Given the description of an element on the screen output the (x, y) to click on. 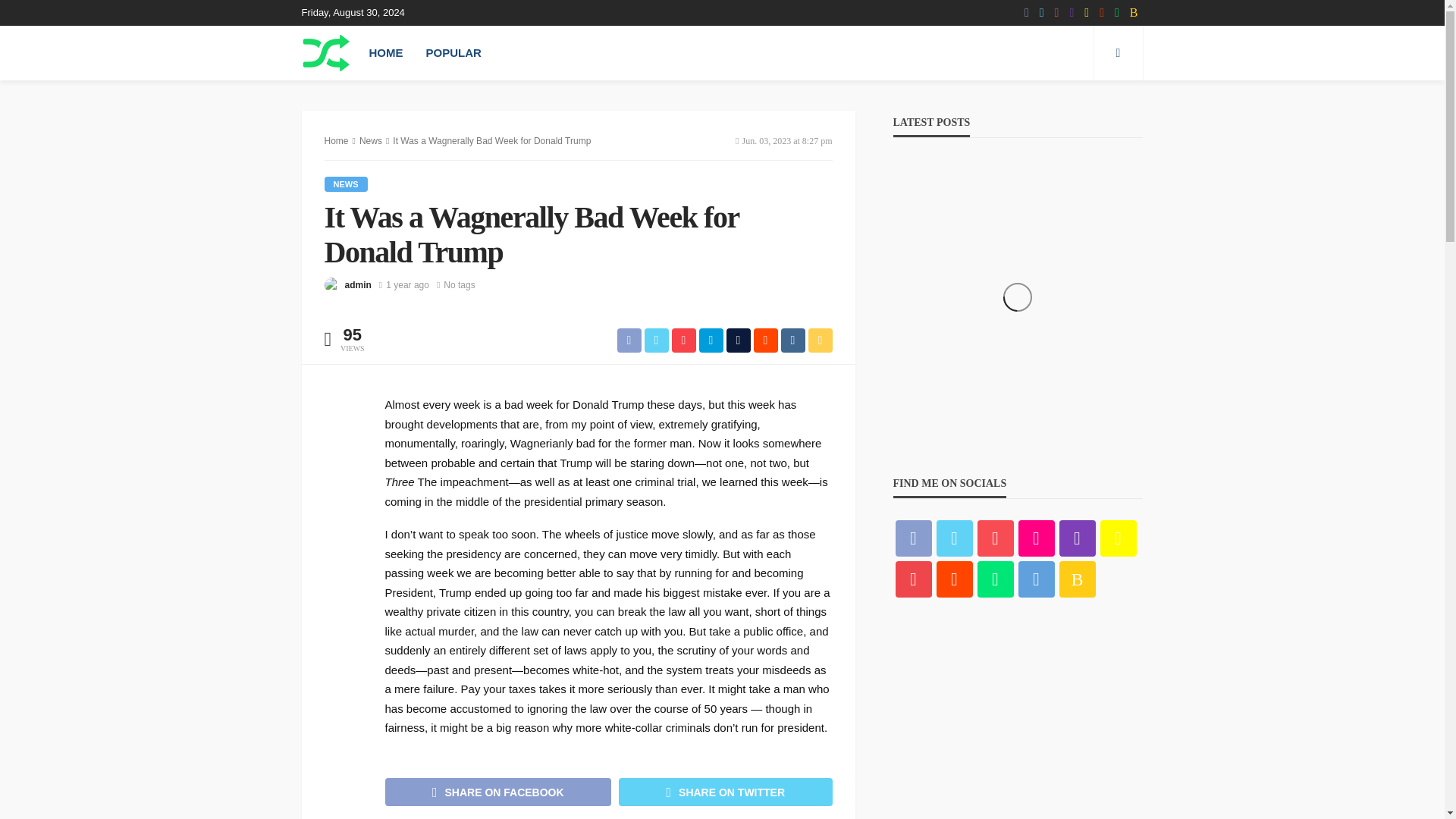
POPULAR (452, 52)
News (370, 140)
NEWS (346, 183)
HOME (386, 52)
InternetShuffle - See The Shuffle On The Internet (325, 52)
admin (357, 284)
News (346, 183)
Home (336, 140)
